Given the description of an element on the screen output the (x, y) to click on. 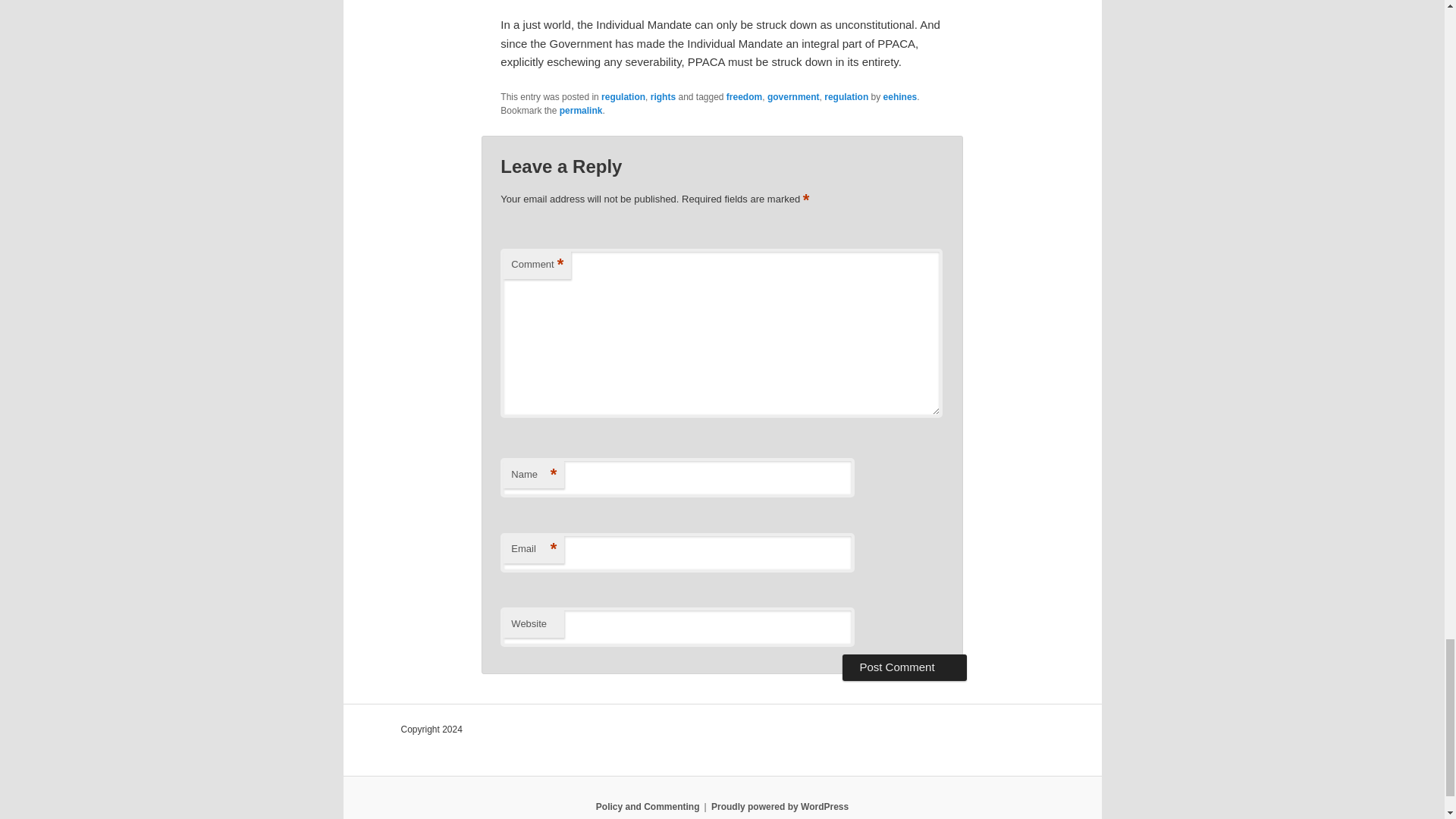
government (793, 96)
eehines (900, 96)
Post Comment (904, 667)
Post Comment (904, 667)
Policy and Commenting (647, 806)
permalink (580, 110)
regulation (845, 96)
regulation (623, 96)
Proudly powered by WordPress (779, 806)
Semantic Personal Publishing Platform (779, 806)
